Given the description of an element on the screen output the (x, y) to click on. 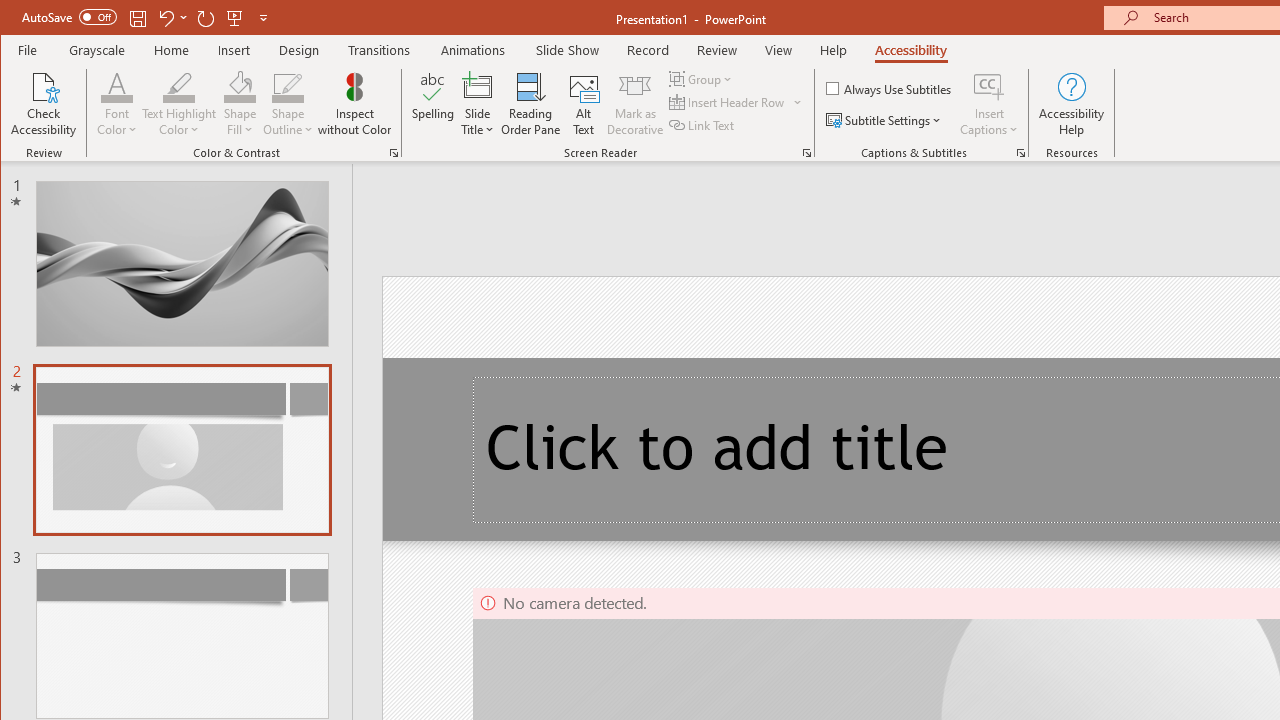
Check Accessibility (43, 104)
Always Use Subtitles (890, 88)
Reading Order Pane (531, 104)
Color & Contrast (393, 152)
Insert Header Row (735, 101)
Review (717, 50)
Subtitle Settings (885, 119)
Save (138, 17)
Design (299, 50)
Quick Access Toolbar (146, 17)
Transitions (379, 50)
Link Text (703, 124)
